Given the description of an element on the screen output the (x, y) to click on. 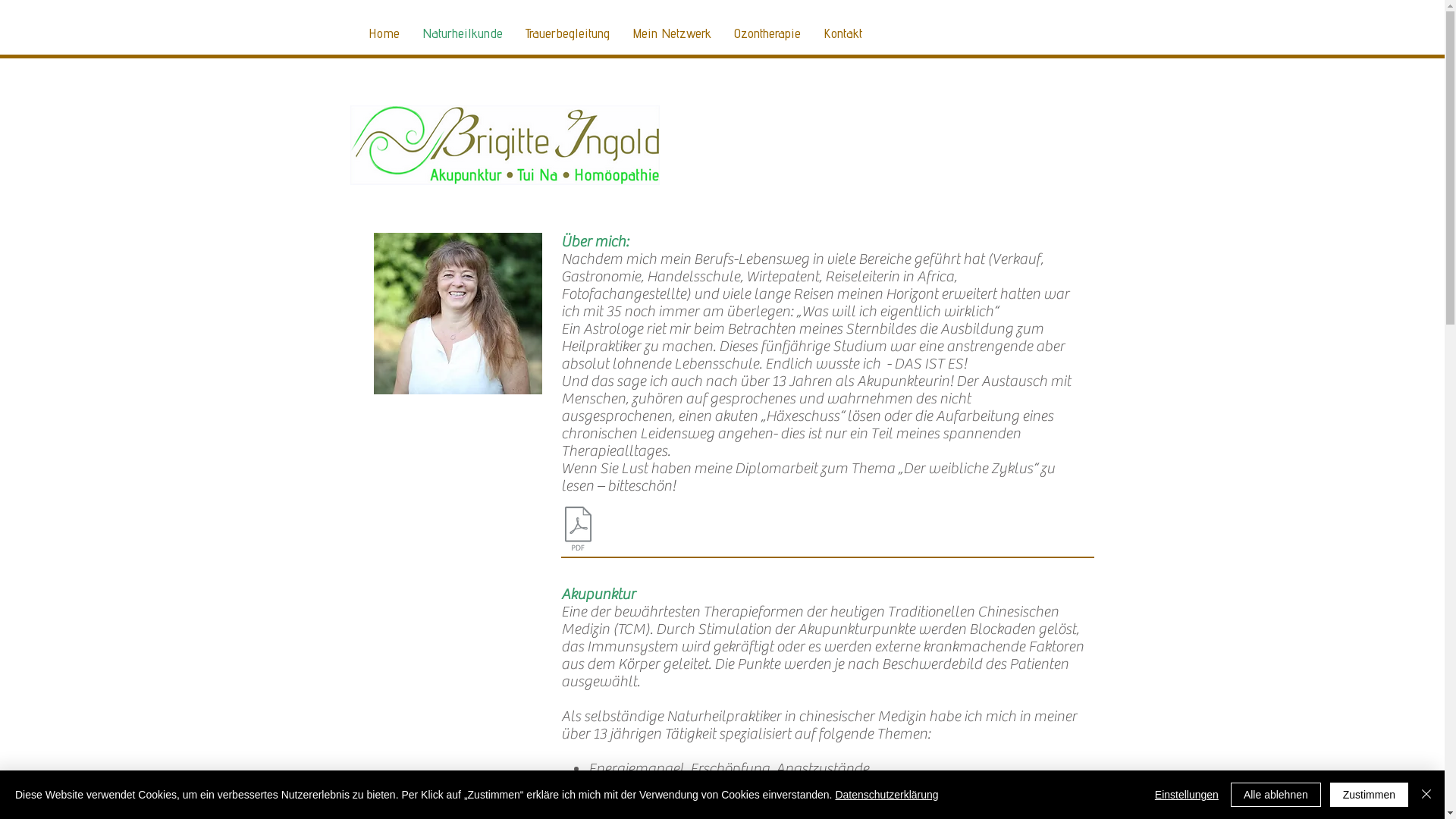
Ozontherapie Element type: text (766, 32)
Kontakt Element type: text (841, 32)
Brigitte Ingold Oensingen Element type: hover (504, 145)
Diplomarbeit Paramed.pdf Element type: hover (578, 530)
Zustimmen Element type: text (1369, 794)
Alle ablehnen Element type: text (1275, 794)
Trauerbegleitung Element type: text (567, 32)
Naturheilkunde Element type: text (462, 32)
Home Element type: text (383, 32)
Mein Netzwerk Element type: text (670, 32)
Brigitte Ingold Oensingen Element type: hover (457, 313)
